Given the description of an element on the screen output the (x, y) to click on. 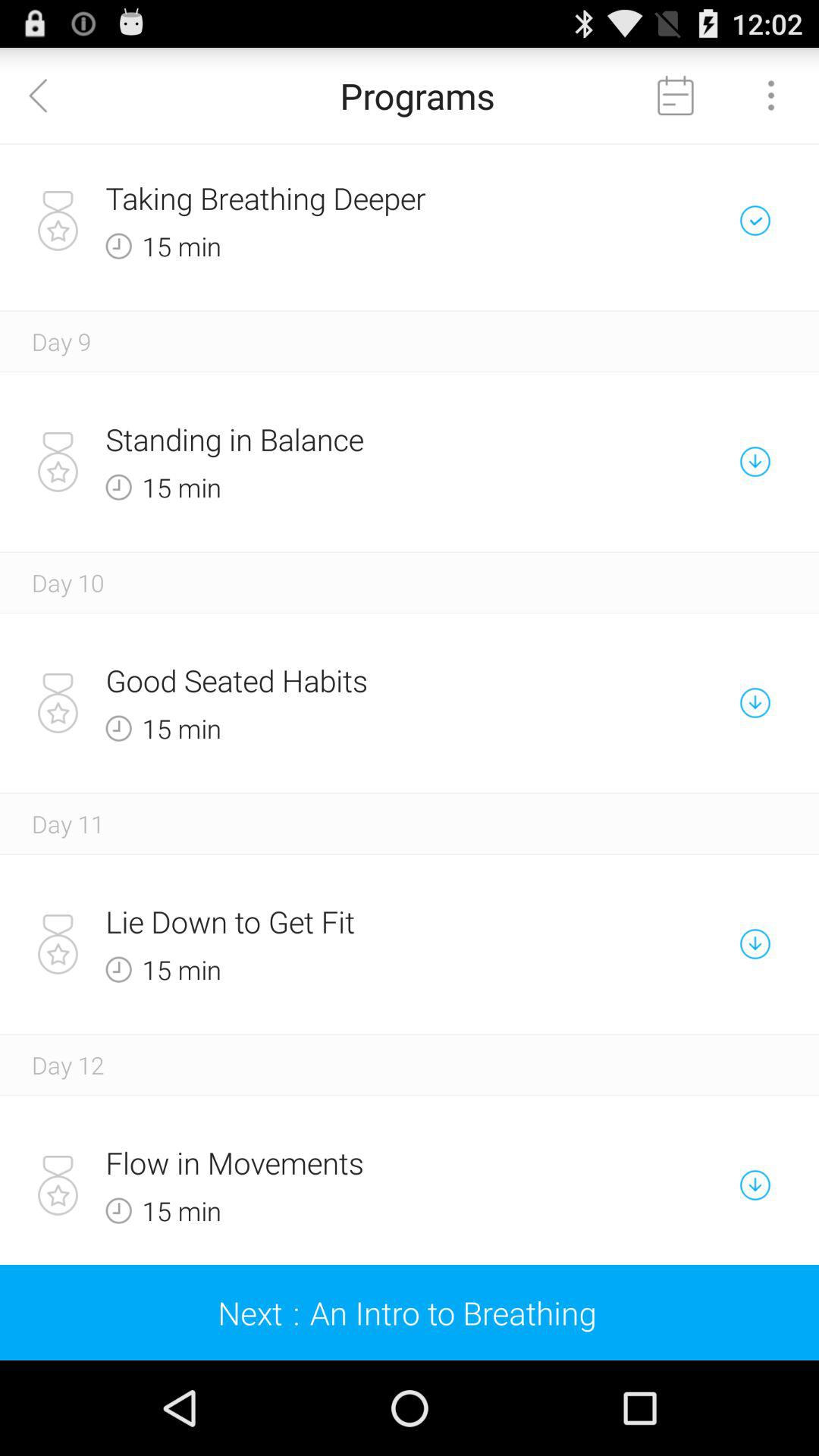
turn off day 9 (61, 341)
